Given the description of an element on the screen output the (x, y) to click on. 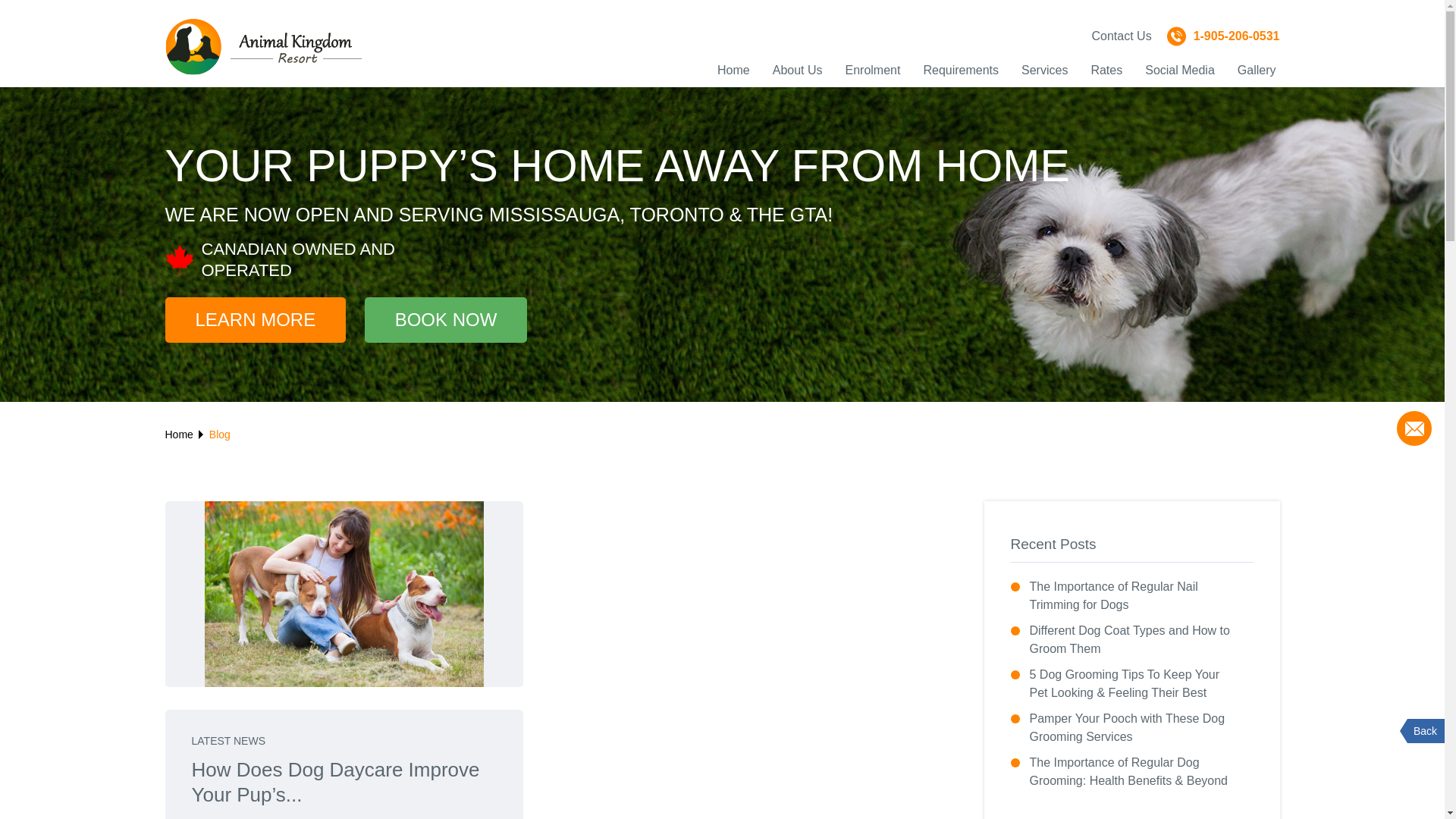
Home Element type: text (179, 434)
Enrolment Element type: text (872, 70)
BOOK NOW Element type: text (438, 319)
Home Element type: text (733, 70)
About Us Element type: text (797, 70)
1-905-206-0531 Element type: text (1223, 36)
Requirements Element type: text (960, 70)
BOOK NOW Element type: text (445, 319)
Animal Kingdom Resort Inc. Element type: hover (263, 46)
LEARN MORE Element type: text (255, 319)
Different Dog Coat Types and How to Groom Them Element type: text (1131, 639)
Gallery Element type: text (1256, 70)
Contact Us Element type: text (1120, 35)
Social Media Element type: text (1179, 70)
Pamper Your Pooch with These Dog Grooming Services Element type: text (1131, 727)
LATEST NEWS Element type: text (228, 740)
The Importance of Regular Nail Trimming for Dogs Element type: text (1131, 595)
Back Element type: text (1425, 730)
Services Element type: text (1044, 70)
Rates Element type: text (1106, 70)
